Given the description of an element on the screen output the (x, y) to click on. 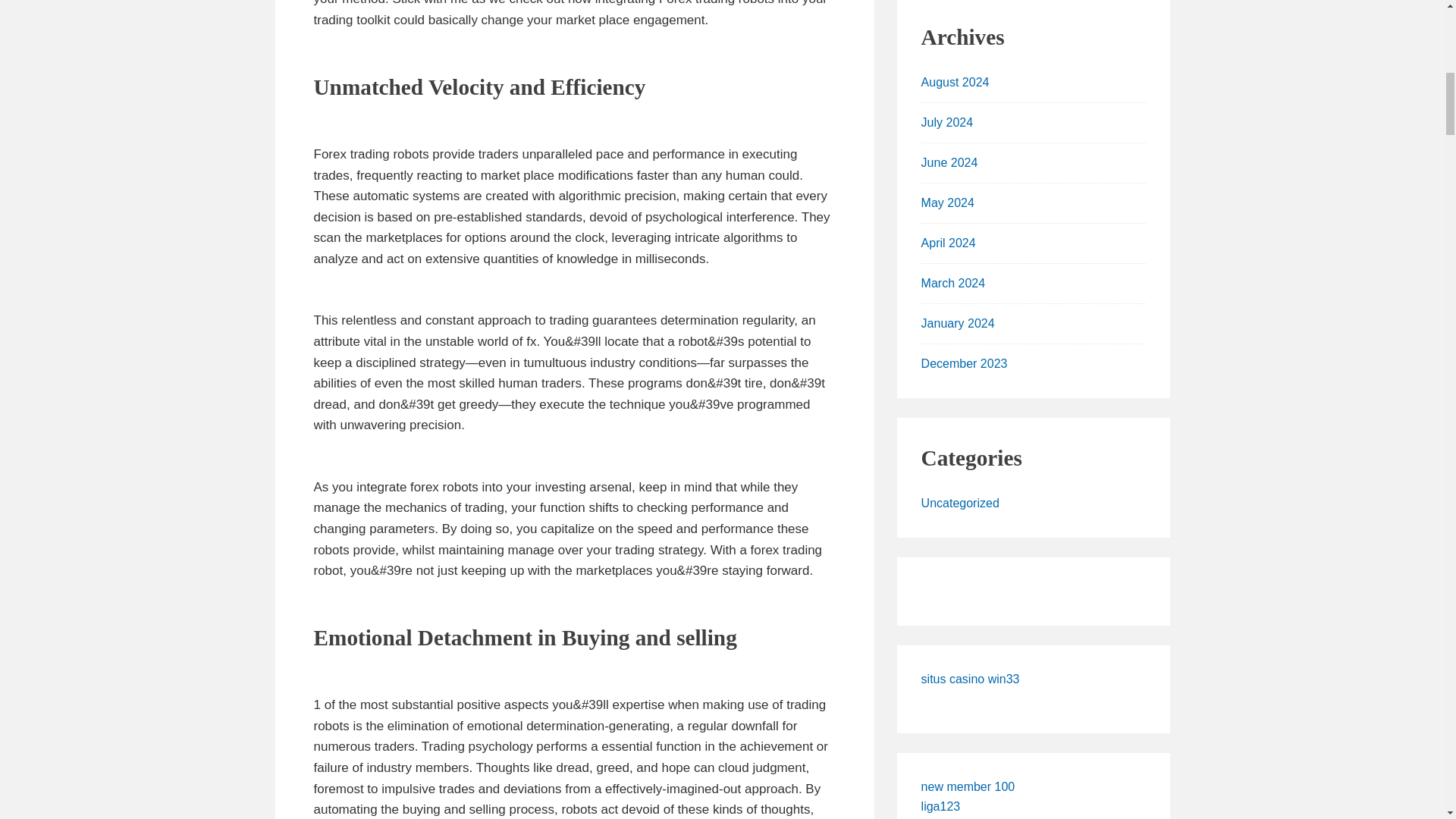
liga123 (940, 806)
June 2024 (949, 162)
May 2024 (947, 202)
December 2023 (964, 363)
March 2024 (953, 282)
July 2024 (947, 122)
new member 100 (967, 786)
situs casino win33 (970, 678)
January 2024 (957, 323)
April 2024 (948, 242)
August 2024 (955, 82)
Uncategorized (959, 502)
